Given the description of an element on the screen output the (x, y) to click on. 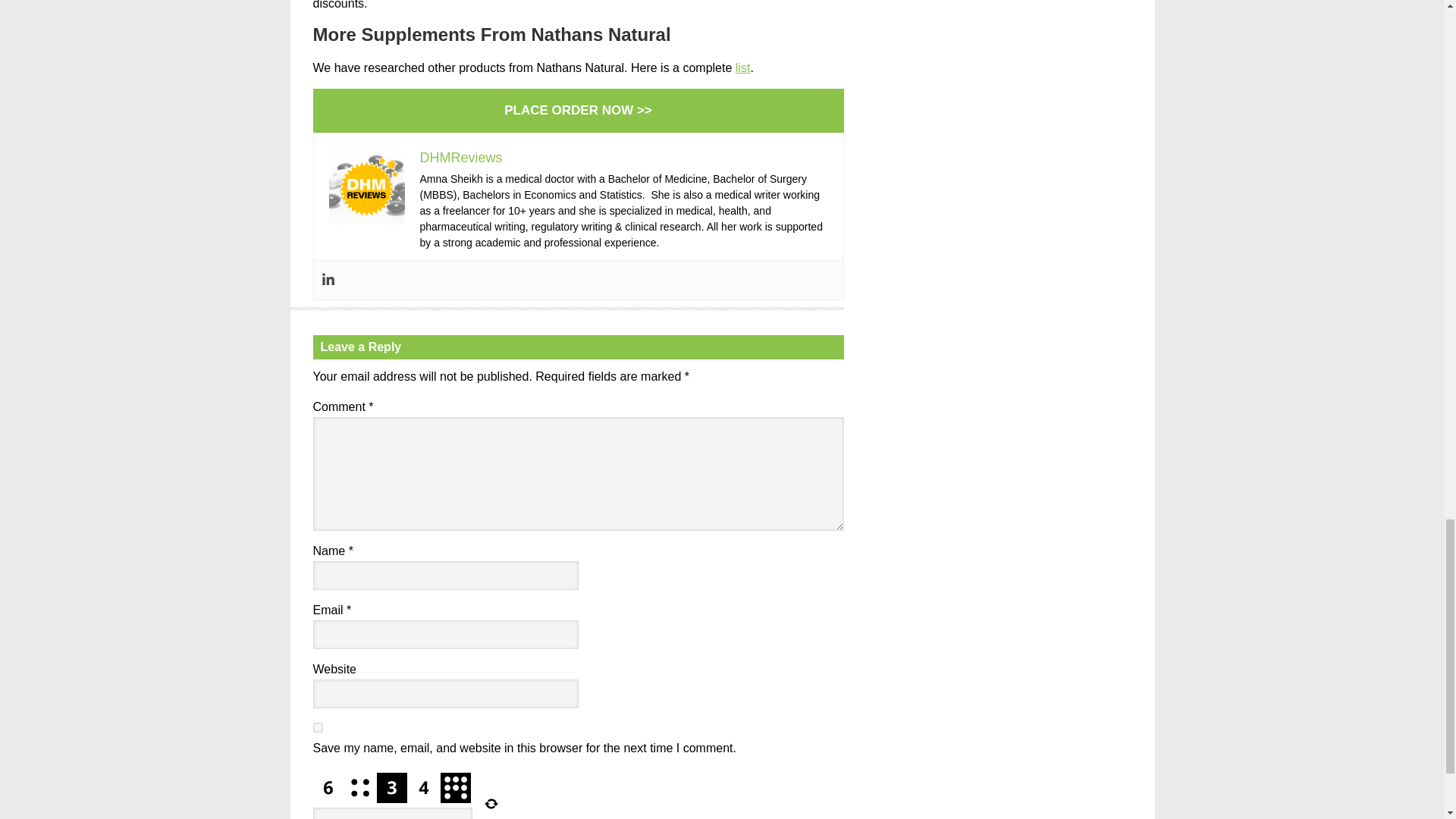
DHMReviews (461, 157)
yes (317, 727)
list (743, 67)
